Given the description of an element on the screen output the (x, y) to click on. 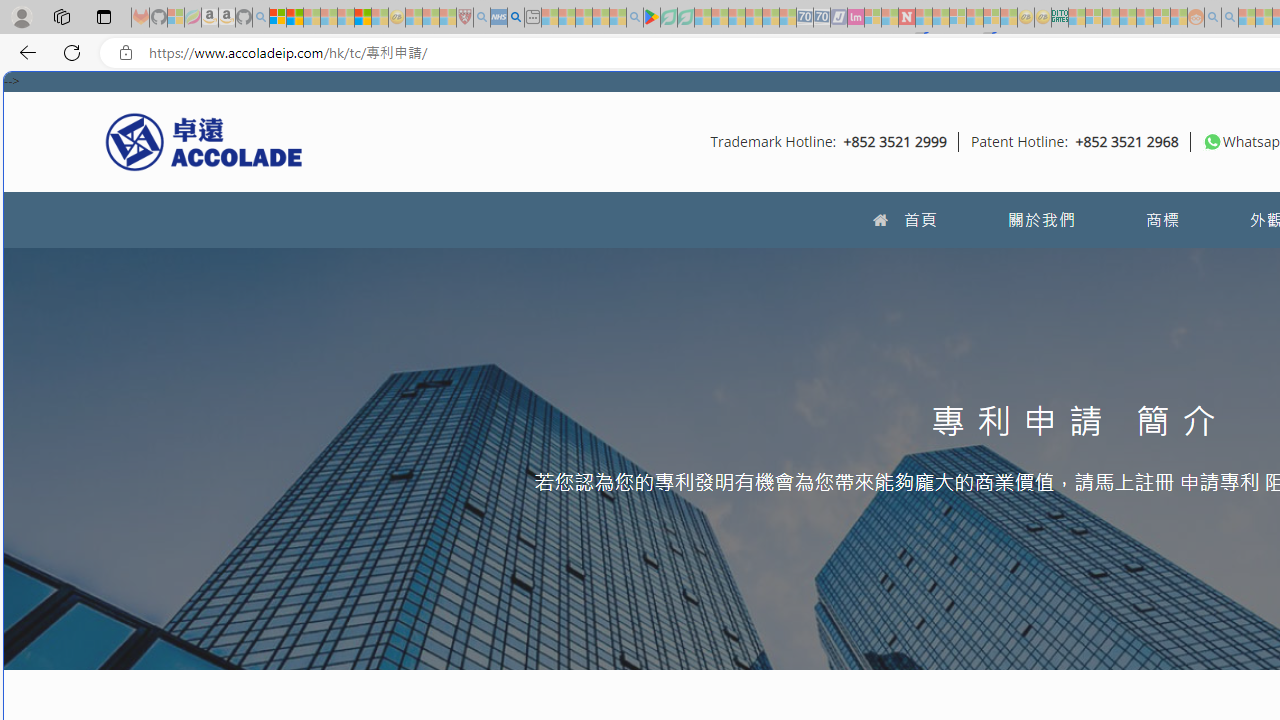
Bluey: Let's Play! - Apps on Google Play (651, 17)
